Given the description of an element on the screen output the (x, y) to click on. 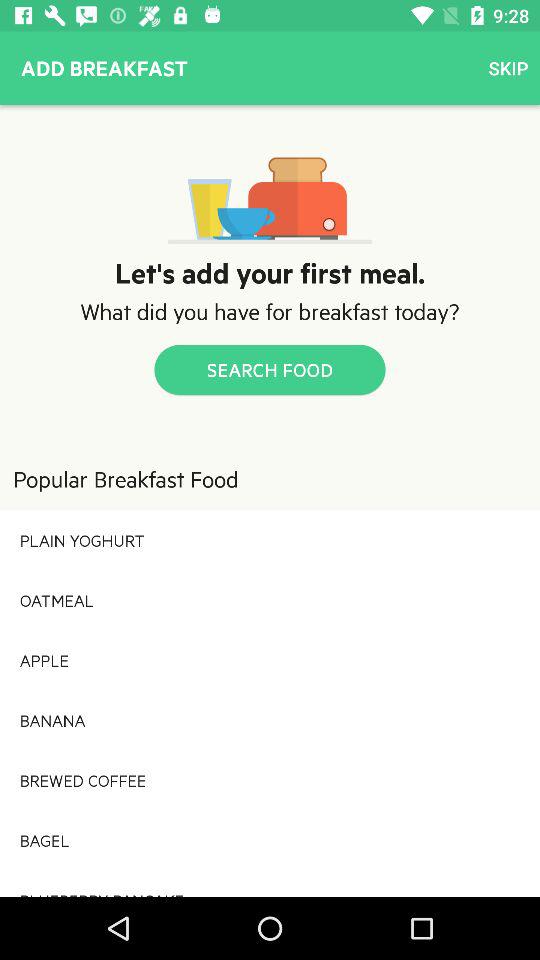
turn off blueberry pancake (270, 883)
